Given the description of an element on the screen output the (x, y) to click on. 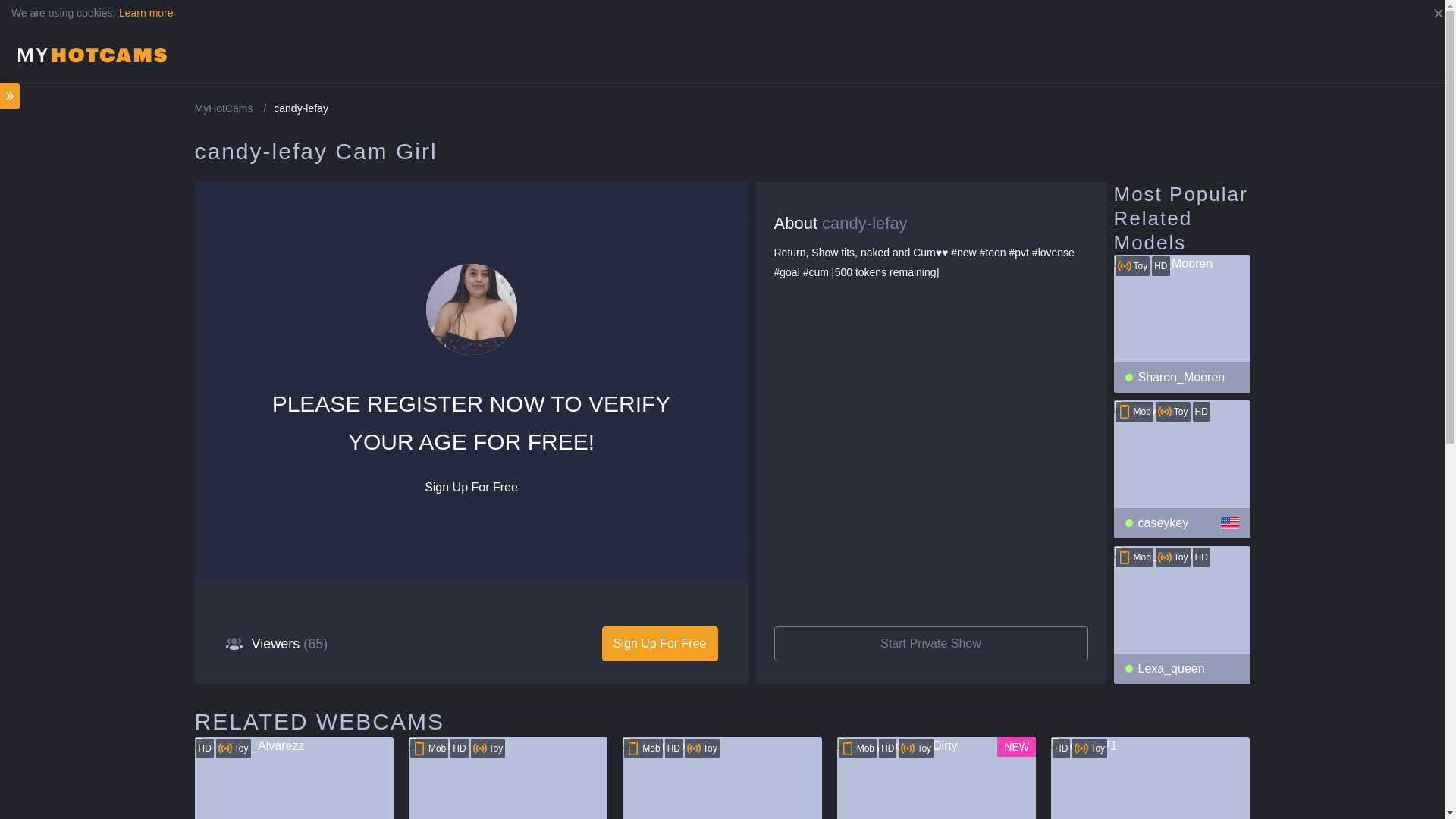
Learn more (146, 12)
